Given the description of an element on the screen output the (x, y) to click on. 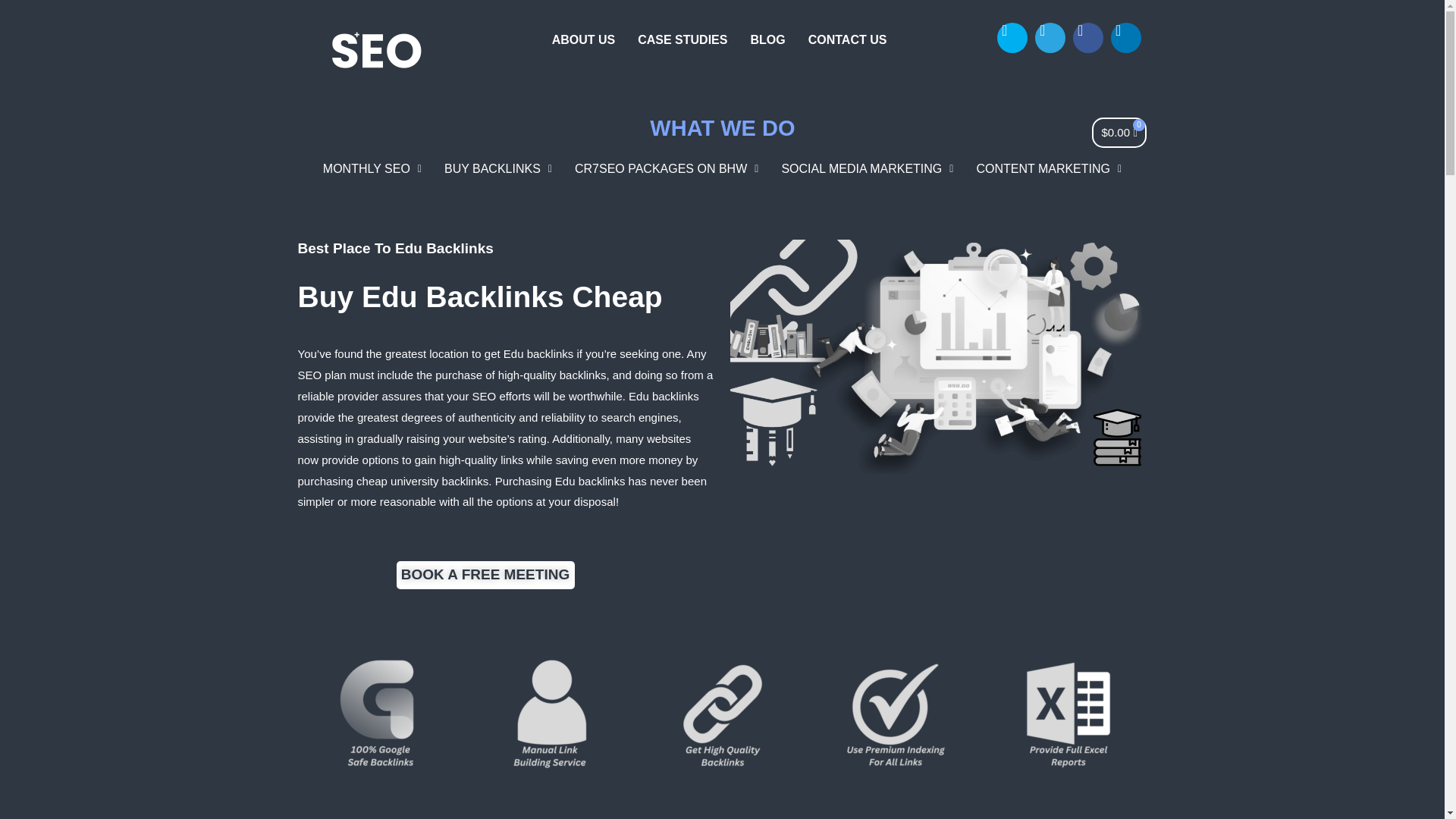
CONTACT US (847, 39)
Facebook (1088, 37)
Skype (1012, 37)
BUY BACKLINKS (497, 168)
Linkedin (1125, 37)
Telegram (1050, 37)
CR7SEO PACKAGES ON BHW (666, 168)
MONTHLY SEO (371, 168)
SOCIAL MEDIA MARKETING (866, 168)
BLOG (767, 39)
CASE STUDIES (682, 39)
WHAT WE DO (721, 128)
ABOUT US (583, 39)
